Given the description of an element on the screen output the (x, y) to click on. 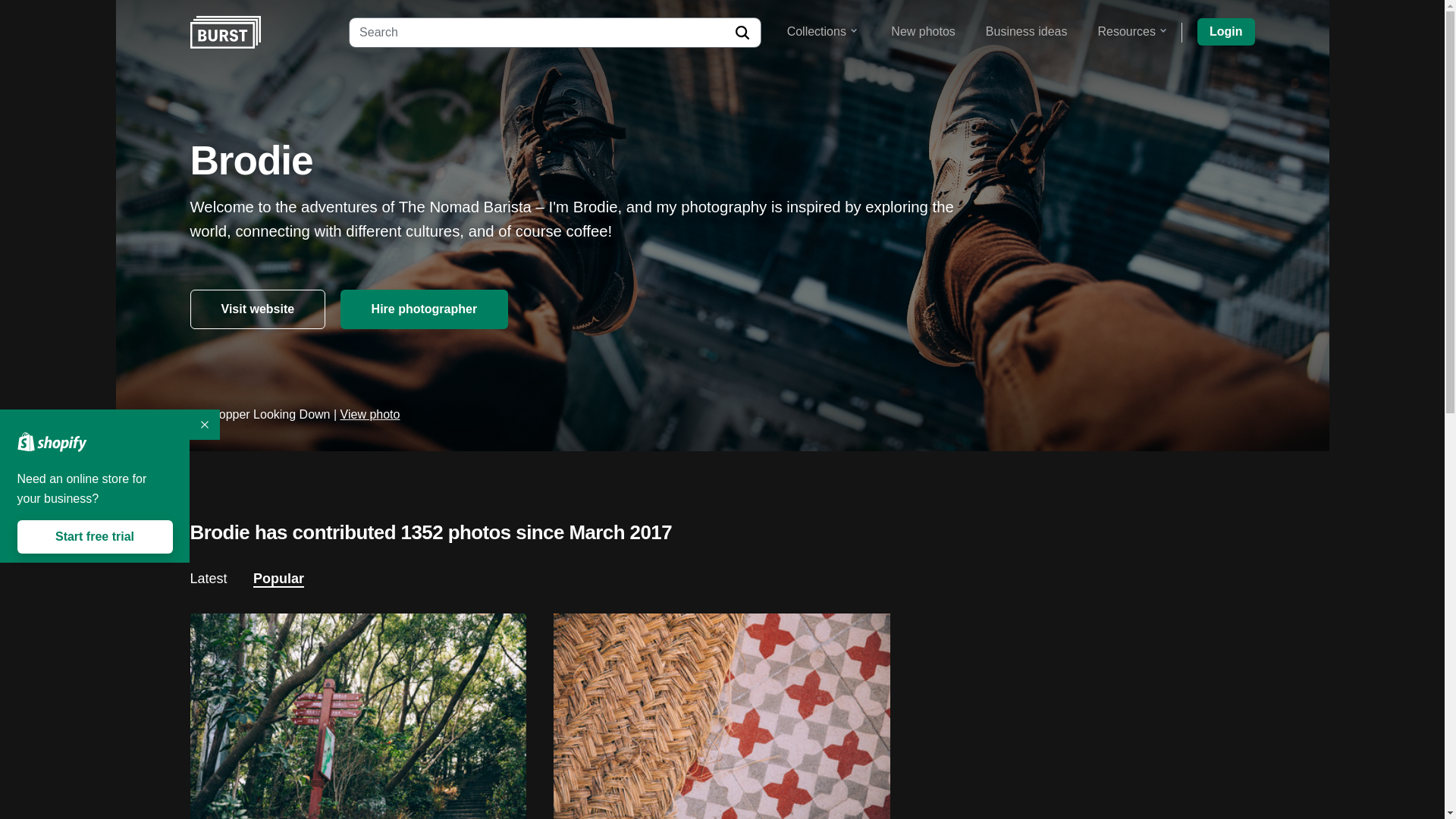
Collections (822, 31)
Burst (224, 31)
Search (742, 32)
Burst (224, 31)
Search (742, 32)
